Given the description of an element on the screen output the (x, y) to click on. 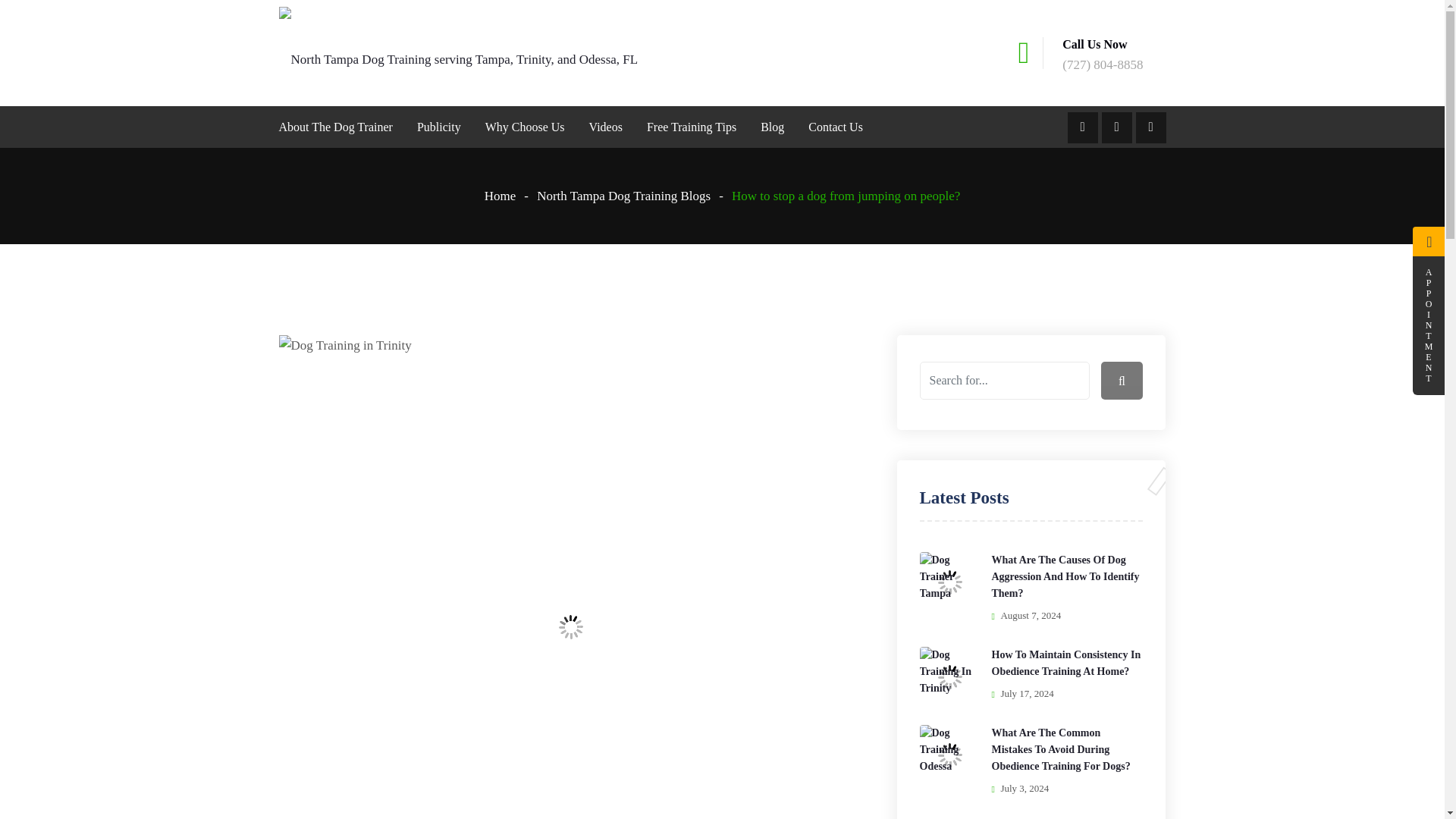
Why Choose Us (524, 127)
Blog (772, 127)
Publicity (438, 127)
About The Dog Trainer (341, 127)
Free Training Tips (691, 127)
North Tampa Dog Training Blogs (633, 196)
Contact Us (829, 127)
Home (509, 196)
